Given the description of an element on the screen output the (x, y) to click on. 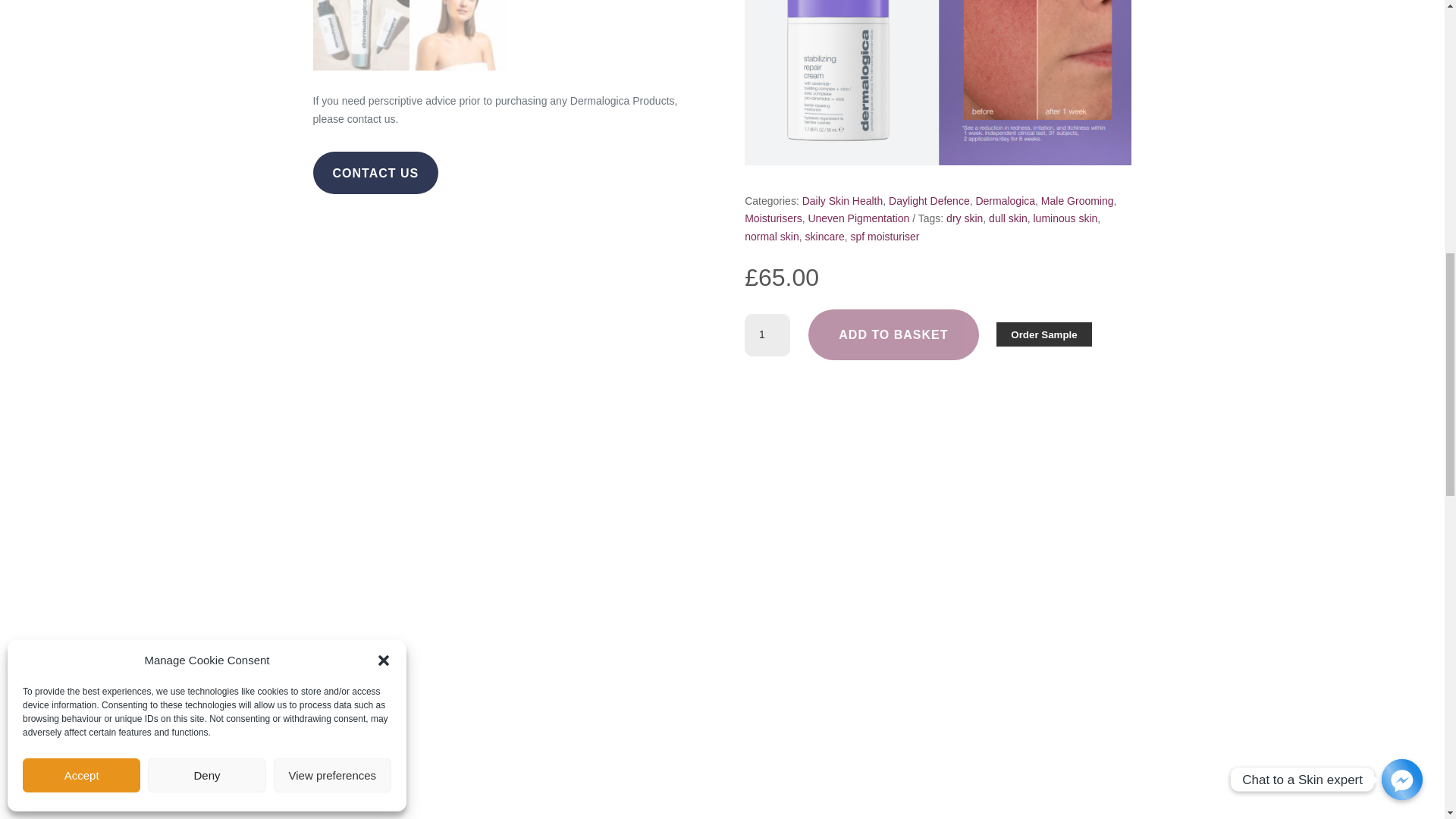
1 (767, 334)
SRC INFO TILE (937, 82)
